Given the description of an element on the screen output the (x, y) to click on. 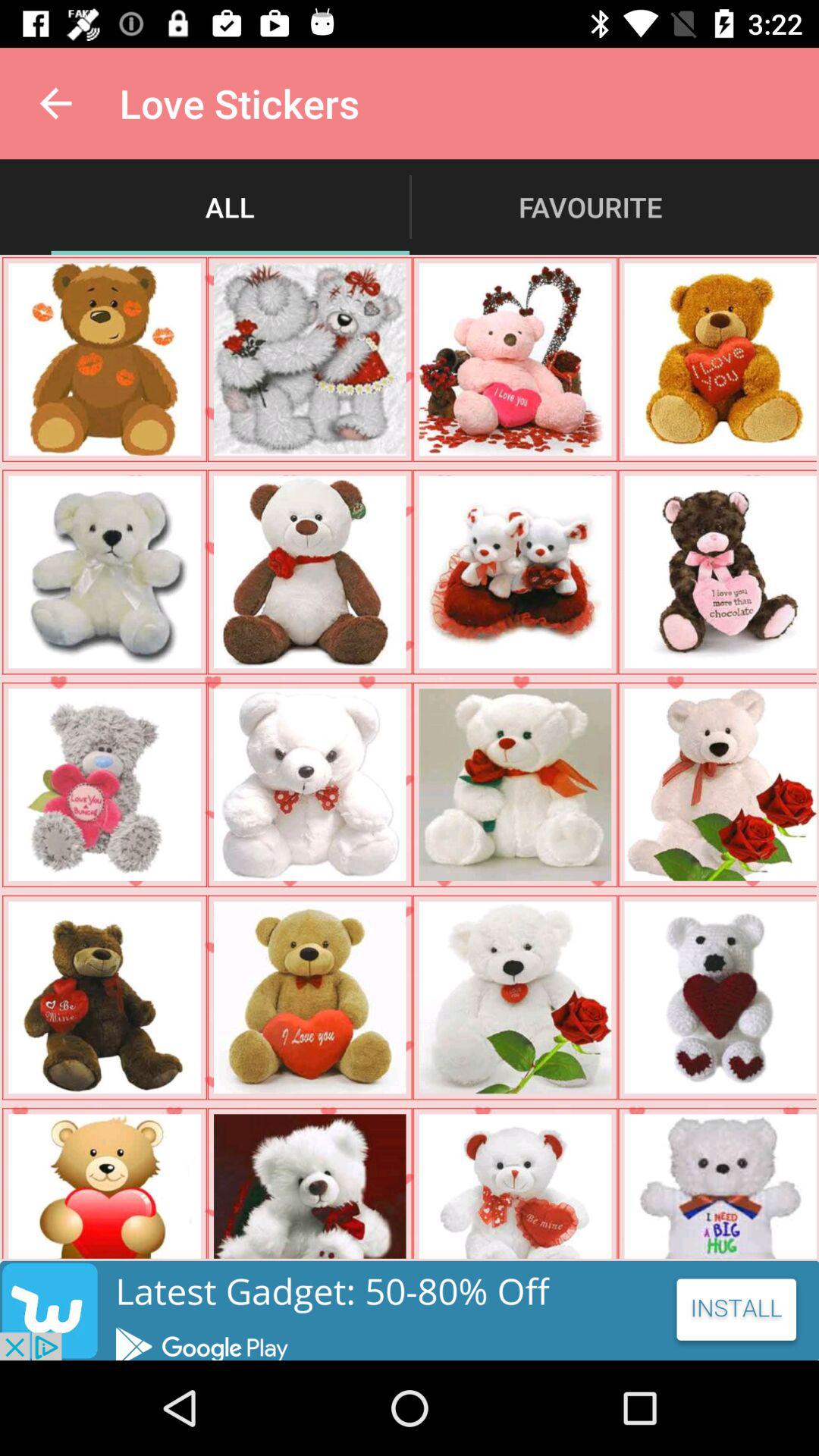
go to advertisement website (409, 1310)
